Given the description of an element on the screen output the (x, y) to click on. 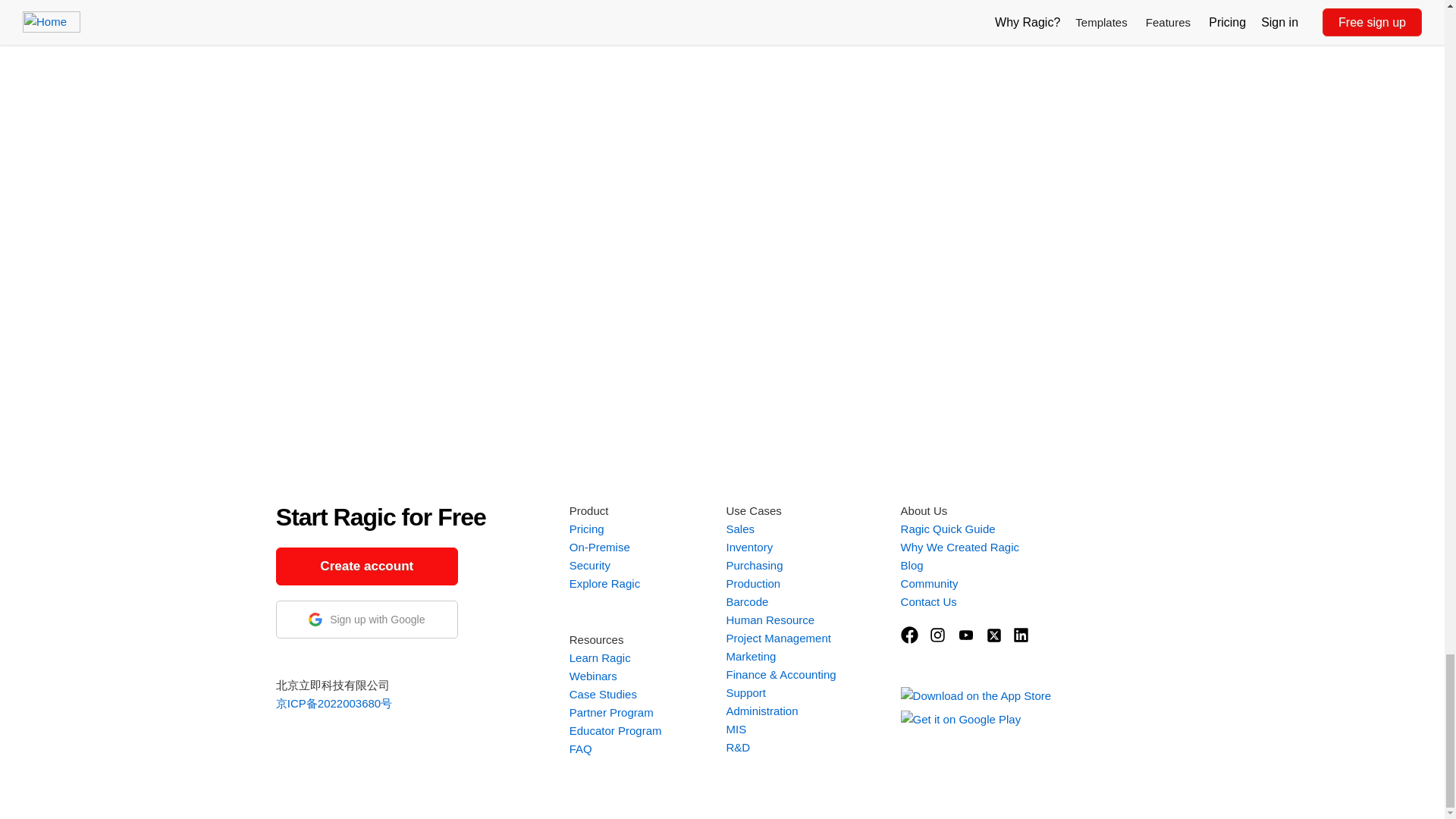
Project Management (777, 637)
Purchasing (754, 564)
Administration (761, 710)
Partner Program (611, 712)
Sales (739, 528)
Marketing (750, 656)
Webinars (593, 675)
Explore Ragic (604, 583)
Create account (367, 566)
Support (745, 692)
